Given the description of an element on the screen output the (x, y) to click on. 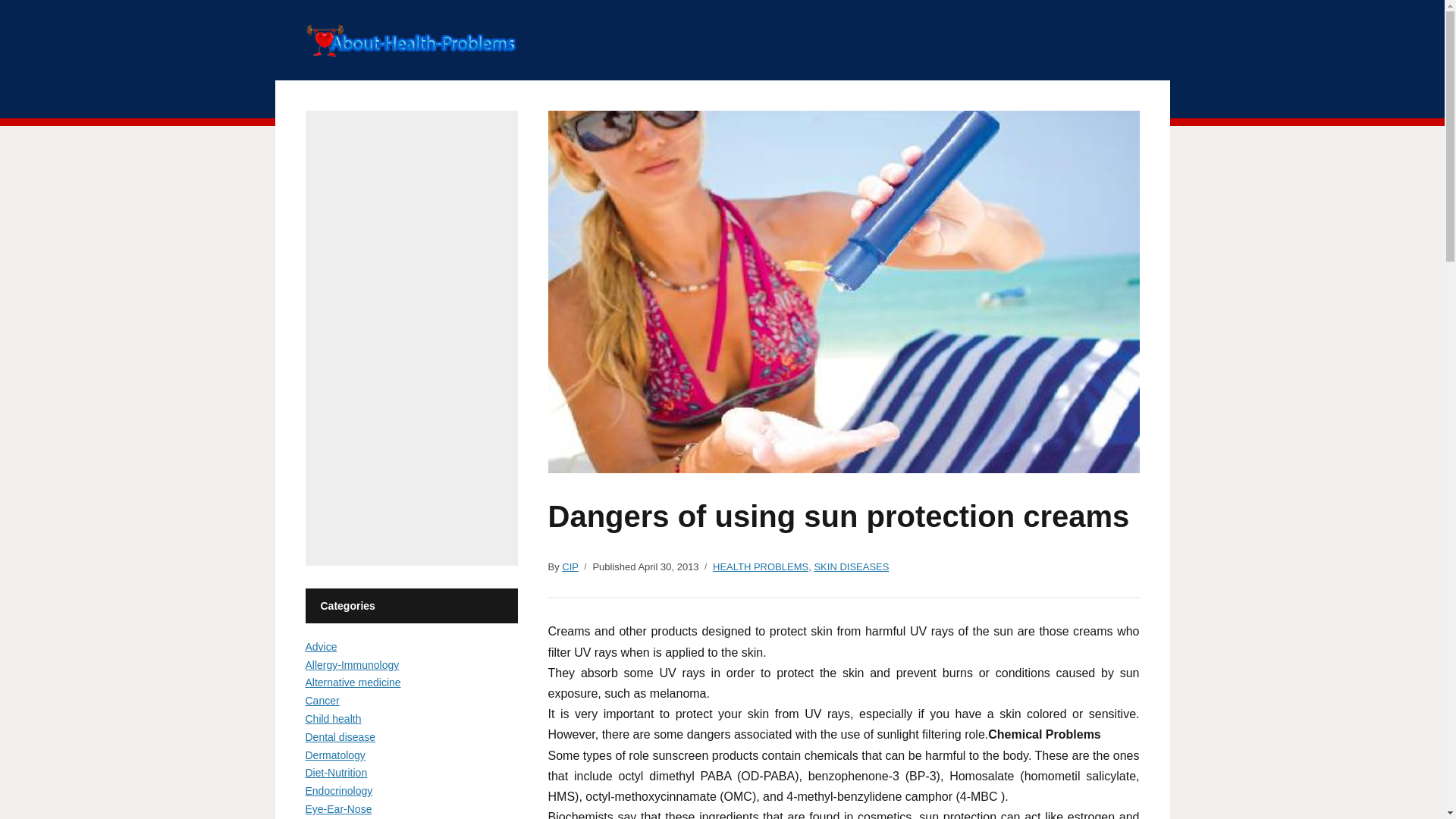
Dental disease (339, 736)
Cancer (321, 700)
Allergy-Immunology (351, 664)
Endocrinology (338, 790)
HEALTH PROBLEMS (760, 567)
Diet-Nutrition (335, 772)
Alternative medicine (352, 682)
Advice (320, 646)
Dermatology (334, 755)
Child health (332, 718)
